Given the description of an element on the screen output the (x, y) to click on. 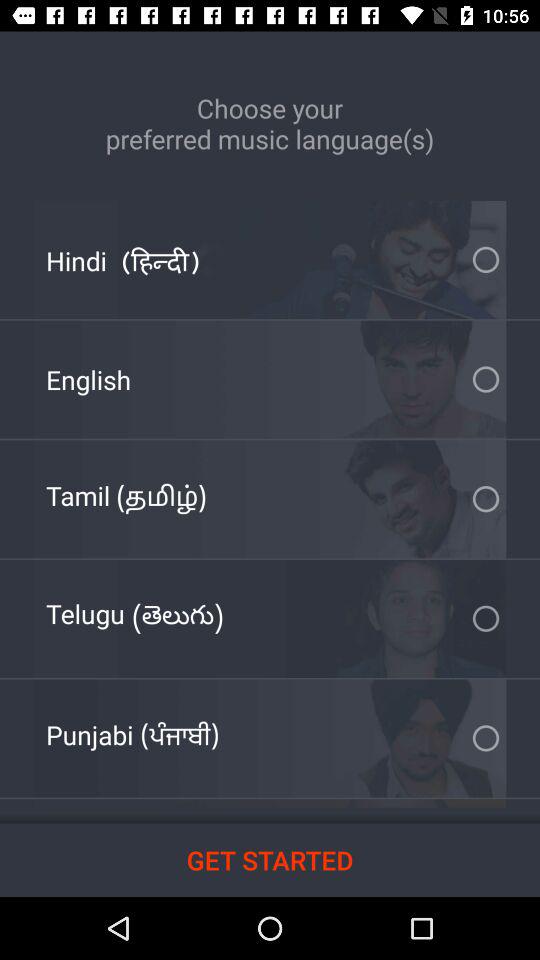
select english (88, 379)
